Given the description of an element on the screen output the (x, y) to click on. 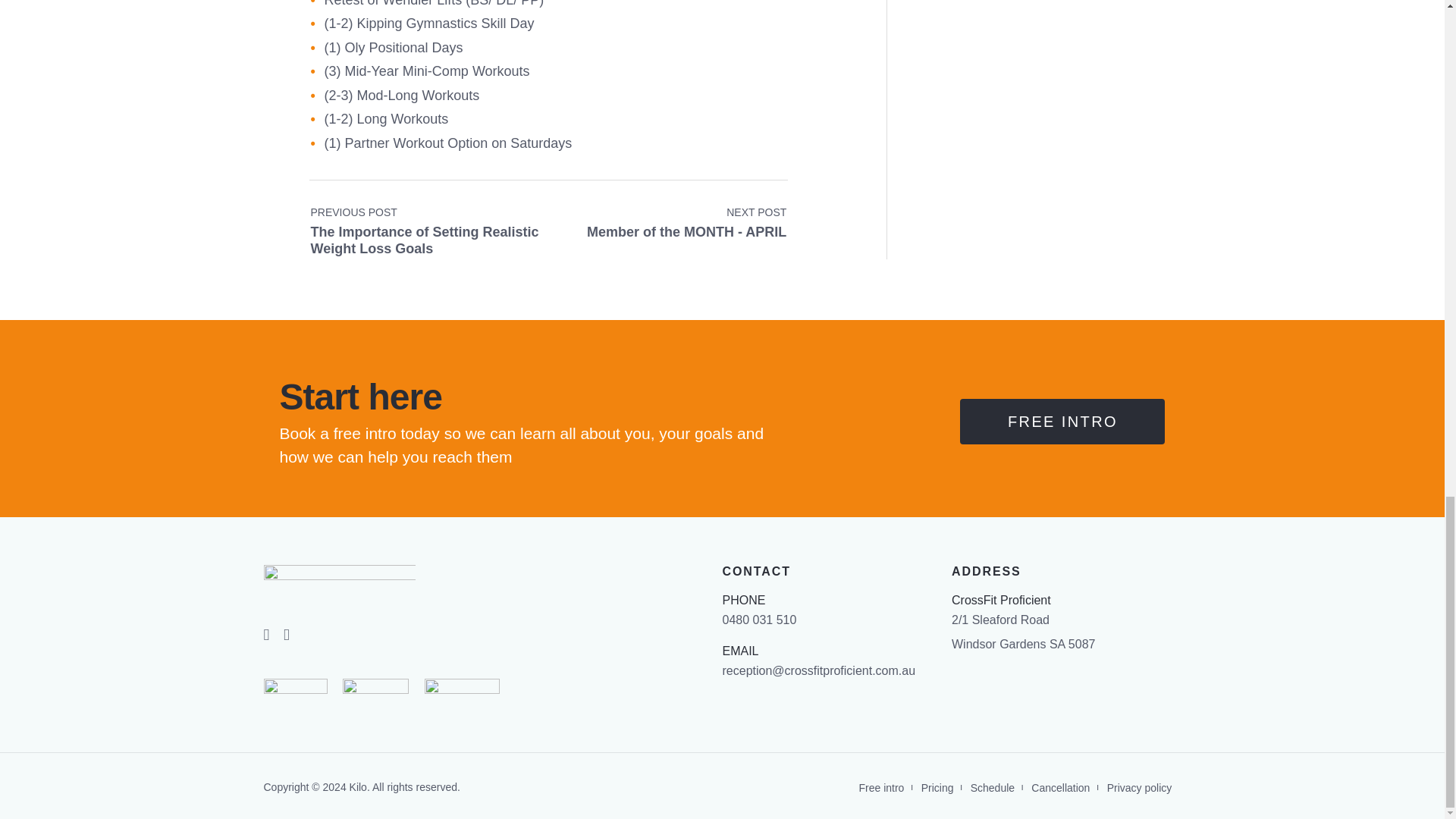
FREE INTRO (686, 222)
Member of the MONTH - APRIL (1061, 421)
The Importance of Setting Realistic Weight Loss Goals (686, 222)
